Given the description of an element on the screen output the (x, y) to click on. 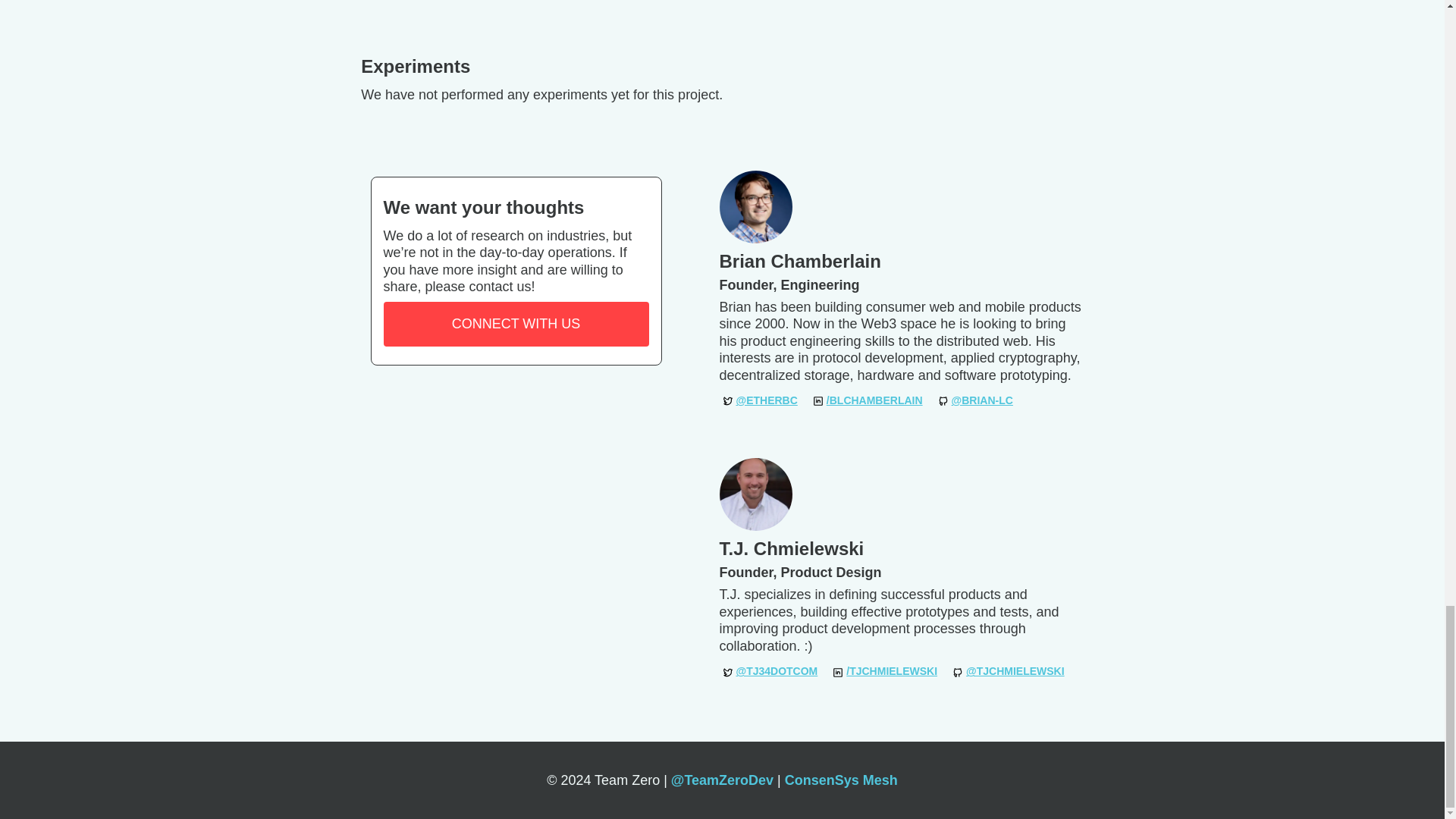
ConsenSys Mesh (841, 780)
CONNECT WITH US (516, 323)
CONNECT WITH US (516, 324)
